Given the description of an element on the screen output the (x, y) to click on. 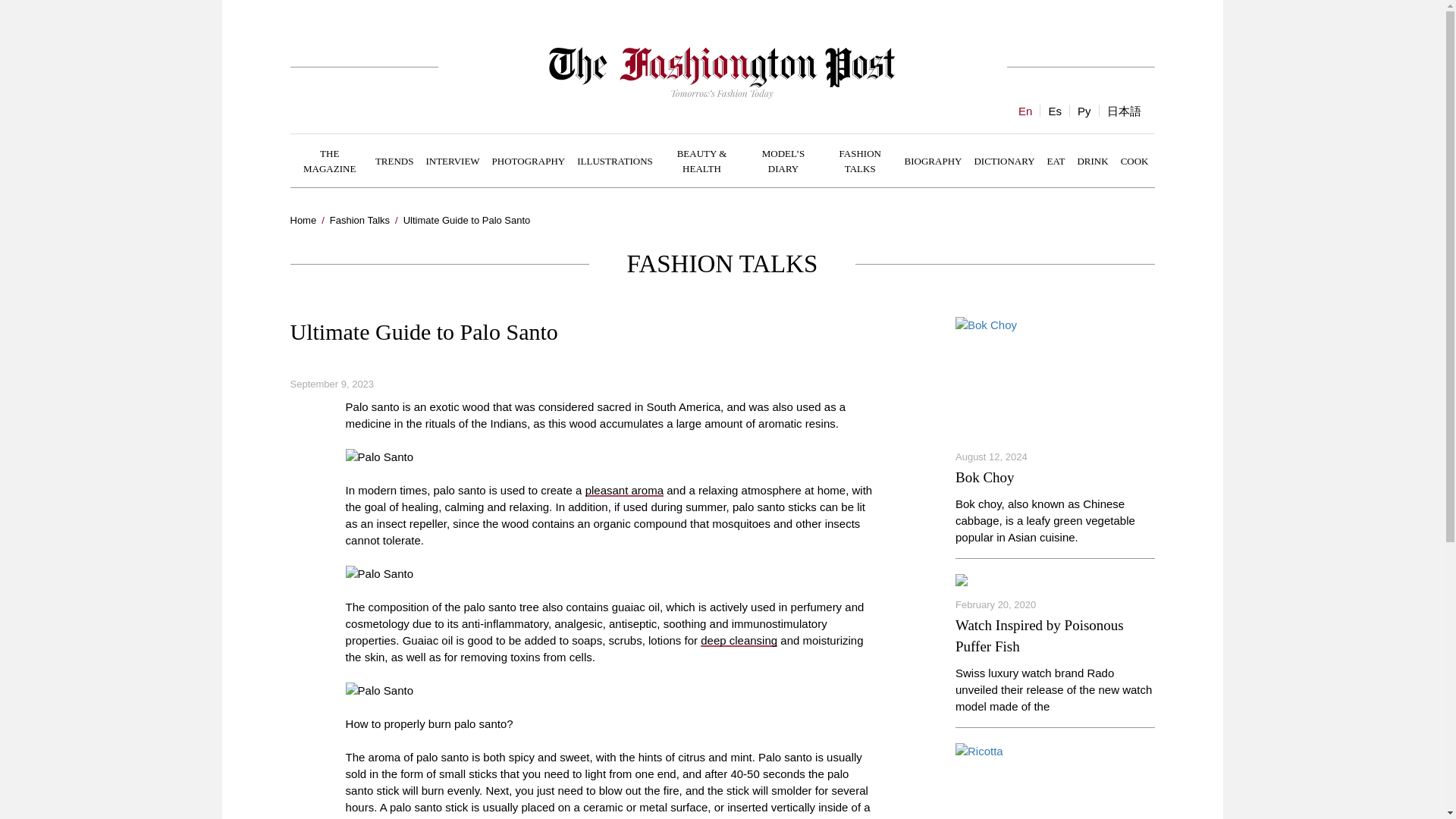
DICTIONARY (1004, 160)
TRENDS (394, 160)
THE MAGAZINE (328, 160)
Es (1053, 110)
Fashion Talks (360, 220)
En (1024, 110)
ILLUSTRATIONS (614, 160)
BIOGRAPHY (933, 160)
deep cleansing (738, 640)
